Given the description of an element on the screen output the (x, y) to click on. 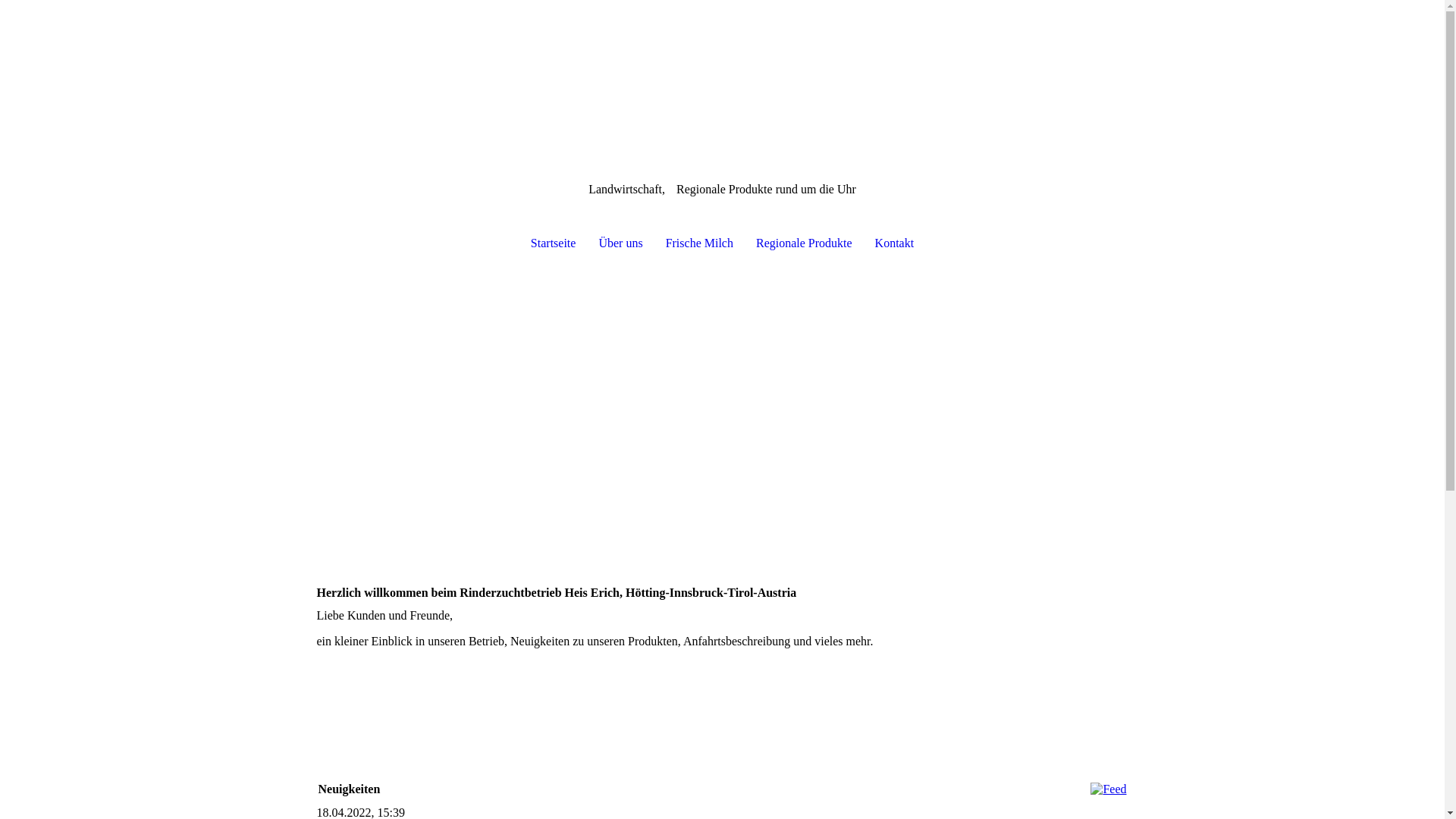
Frische Milch Element type: text (699, 243)
Startseite Element type: text (553, 243)
Regionale Produkte Element type: text (803, 243)
Kontakt Element type: text (894, 243)
